Given the description of an element on the screen output the (x, y) to click on. 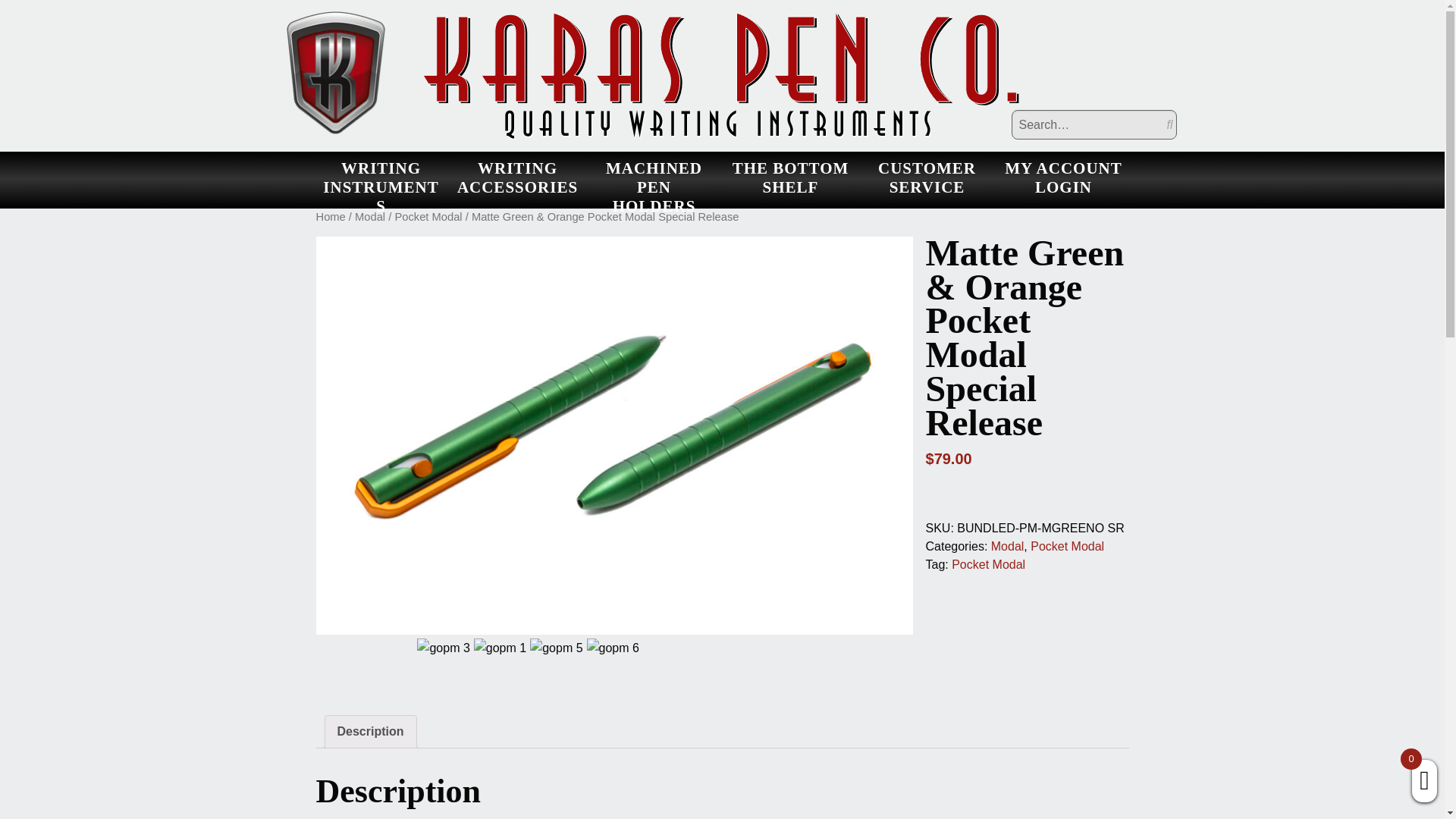
MY ACCOUNT LOGIN (1062, 177)
Modal (370, 216)
MACHINED PEN HOLDERS (653, 177)
Pocket Modal (427, 216)
WRITING INSTRUMENTS (380, 177)
CUSTOMER SERVICE (926, 177)
THE BOTTOM SHELF (790, 177)
WRITING ACCESSORIES (516, 177)
Home (330, 216)
